Given the description of an element on the screen output the (x, y) to click on. 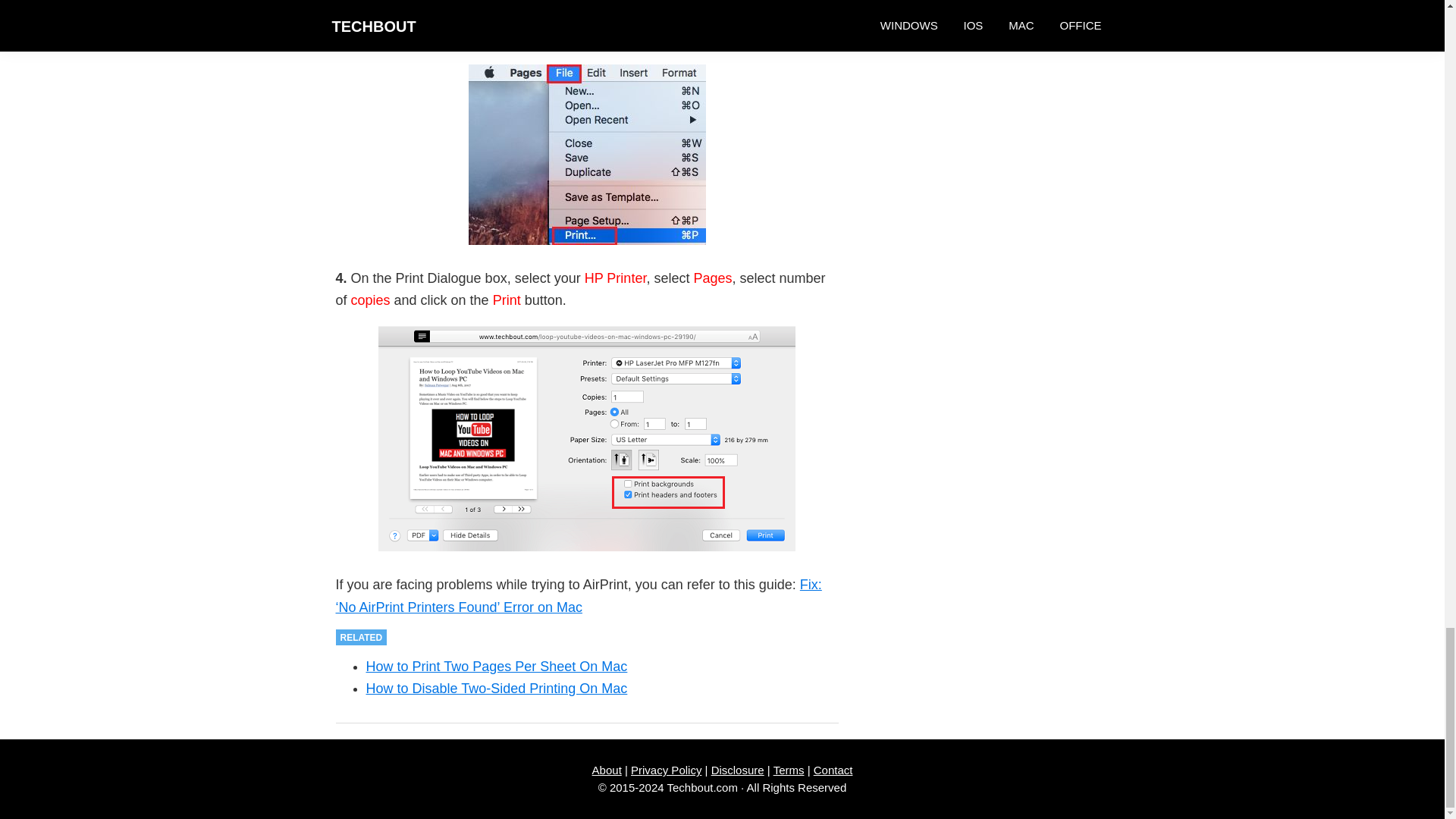
Print File Option on Mac (587, 154)
Contact (833, 769)
About (606, 769)
Privacy Policy (665, 769)
Terms (789, 769)
How to Print Two Pages Per Sheet On Mac (496, 666)
Print Headers and Footers Option on Mac (586, 438)
Disclosure (737, 769)
How to Disable Two-Sided Printing On Mac (496, 688)
